Given the description of an element on the screen output the (x, y) to click on. 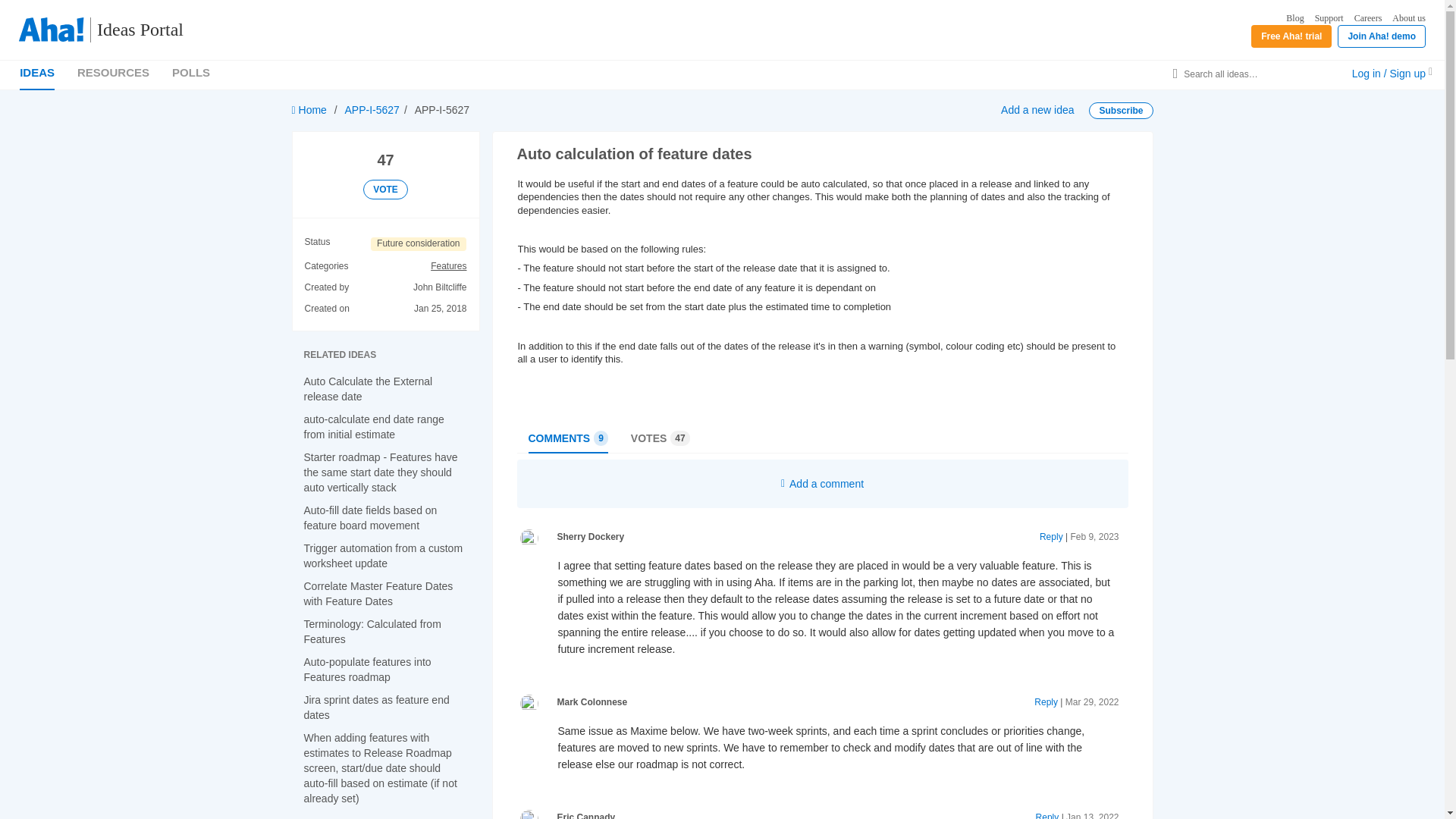
Correlate Master Feature Dates with Feature Dates (377, 593)
Auto-fill date fields based on feature board movement (369, 517)
auto-calculate end date range from initial estimate (567, 438)
Subscribe (373, 426)
Careers (1121, 110)
Ideas Portal (1367, 18)
Future consideration (133, 30)
Join Aha! demo (418, 243)
Support (1381, 36)
IDEAS (1328, 18)
About us (37, 72)
POLLS (1408, 18)
Trigger automation from a custom worksheet update (190, 72)
